Given the description of an element on the screen output the (x, y) to click on. 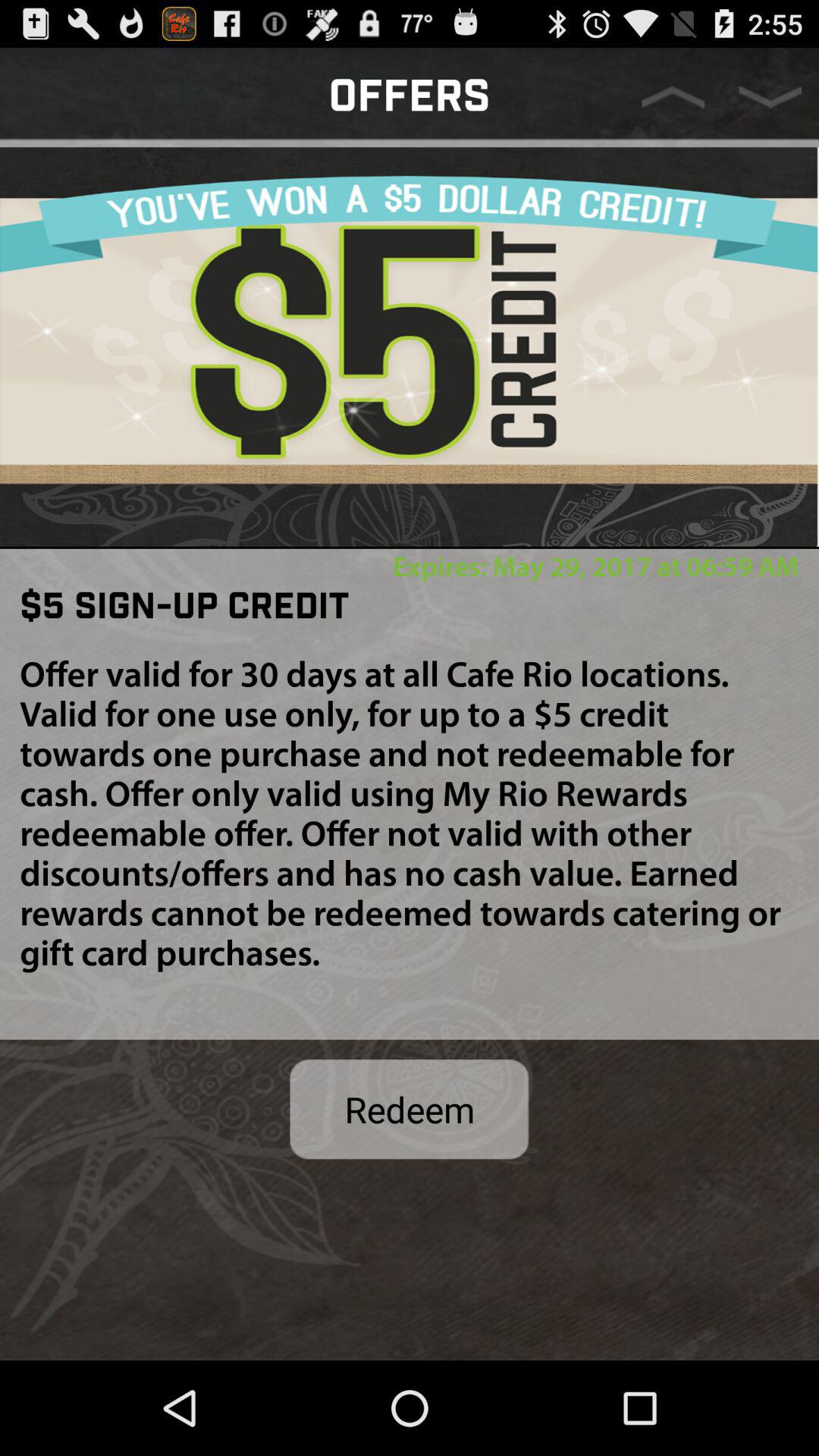
next offer (770, 96)
